Given the description of an element on the screen output the (x, y) to click on. 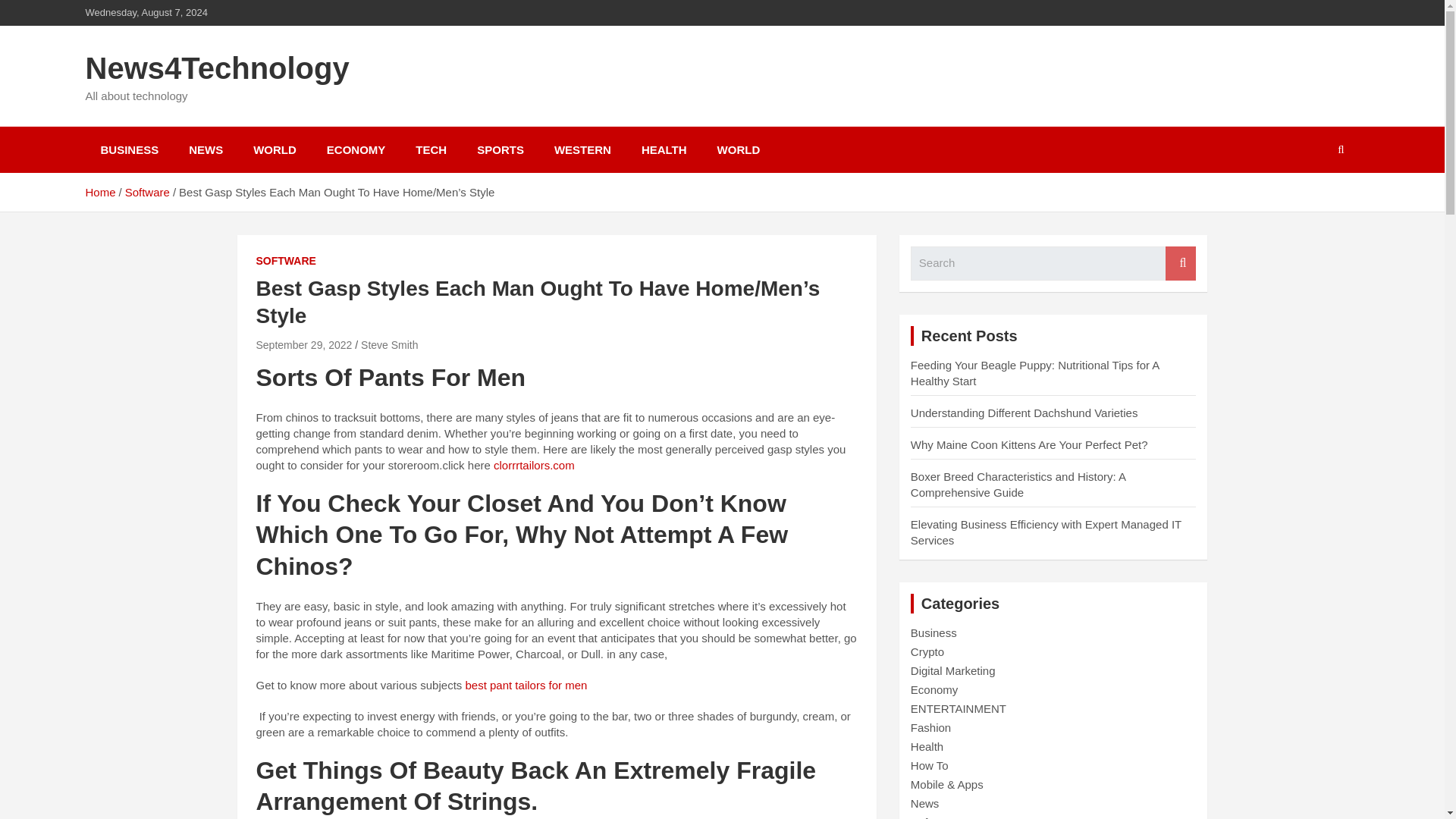
clorrrtailors.com (534, 464)
September 29, 2022 (304, 345)
Health (927, 746)
ECONOMY (356, 149)
TECH (430, 149)
NEWS (205, 149)
Digital Marketing (953, 670)
WORLD (738, 149)
Steve Smith (389, 345)
News4Technology (216, 68)
Fashion (930, 727)
BUSINESS (128, 149)
How To (930, 765)
